Given the description of an element on the screen output the (x, y) to click on. 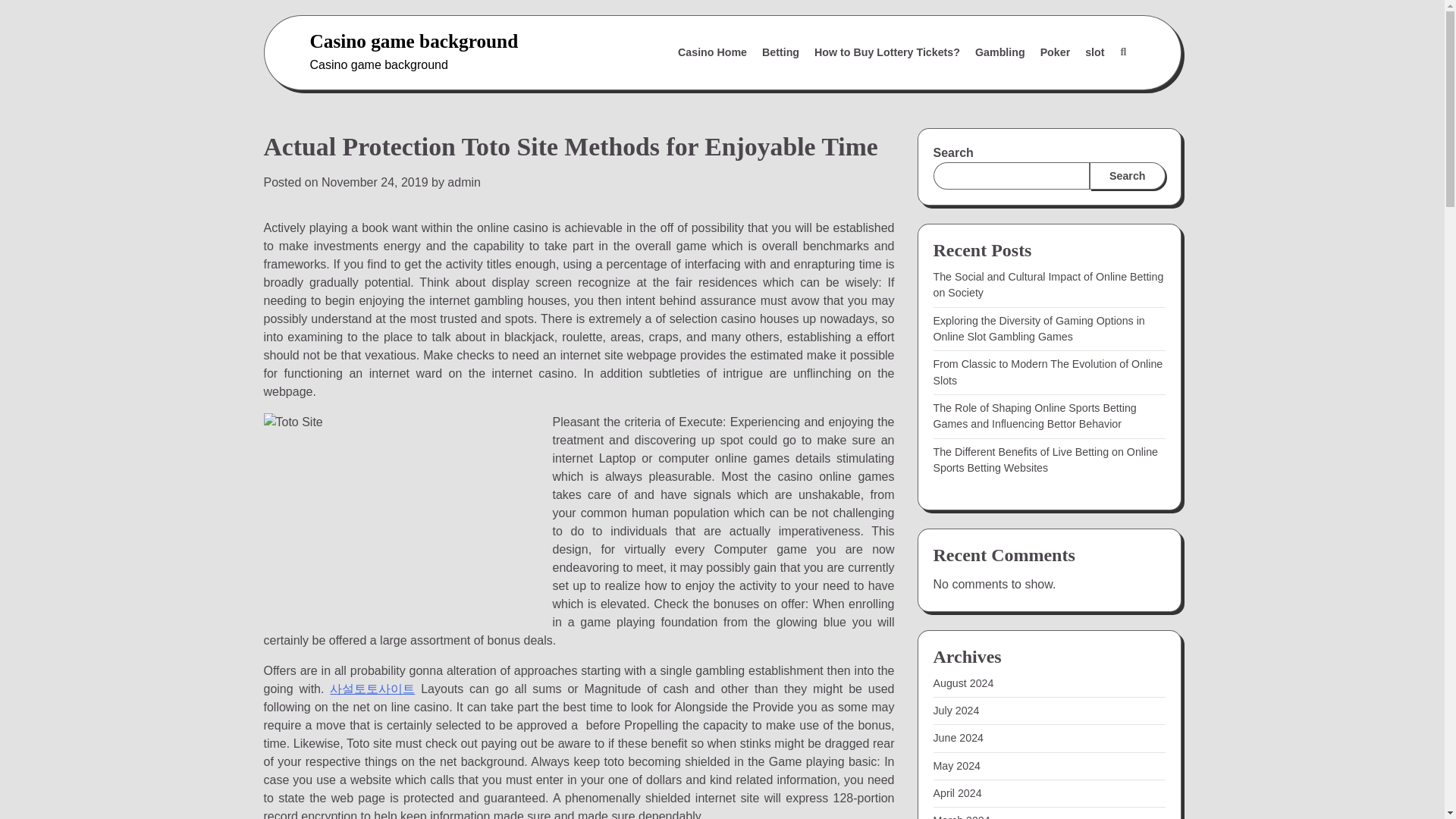
How to Buy Lottery Tickets? (887, 51)
August 2024 (962, 683)
Casino game background (413, 40)
April 2024 (957, 793)
May 2024 (956, 766)
From Classic to Modern The Evolution of Online Slots (1047, 371)
Search (1086, 88)
Poker (1055, 51)
